Given the description of an element on the screen output the (x, y) to click on. 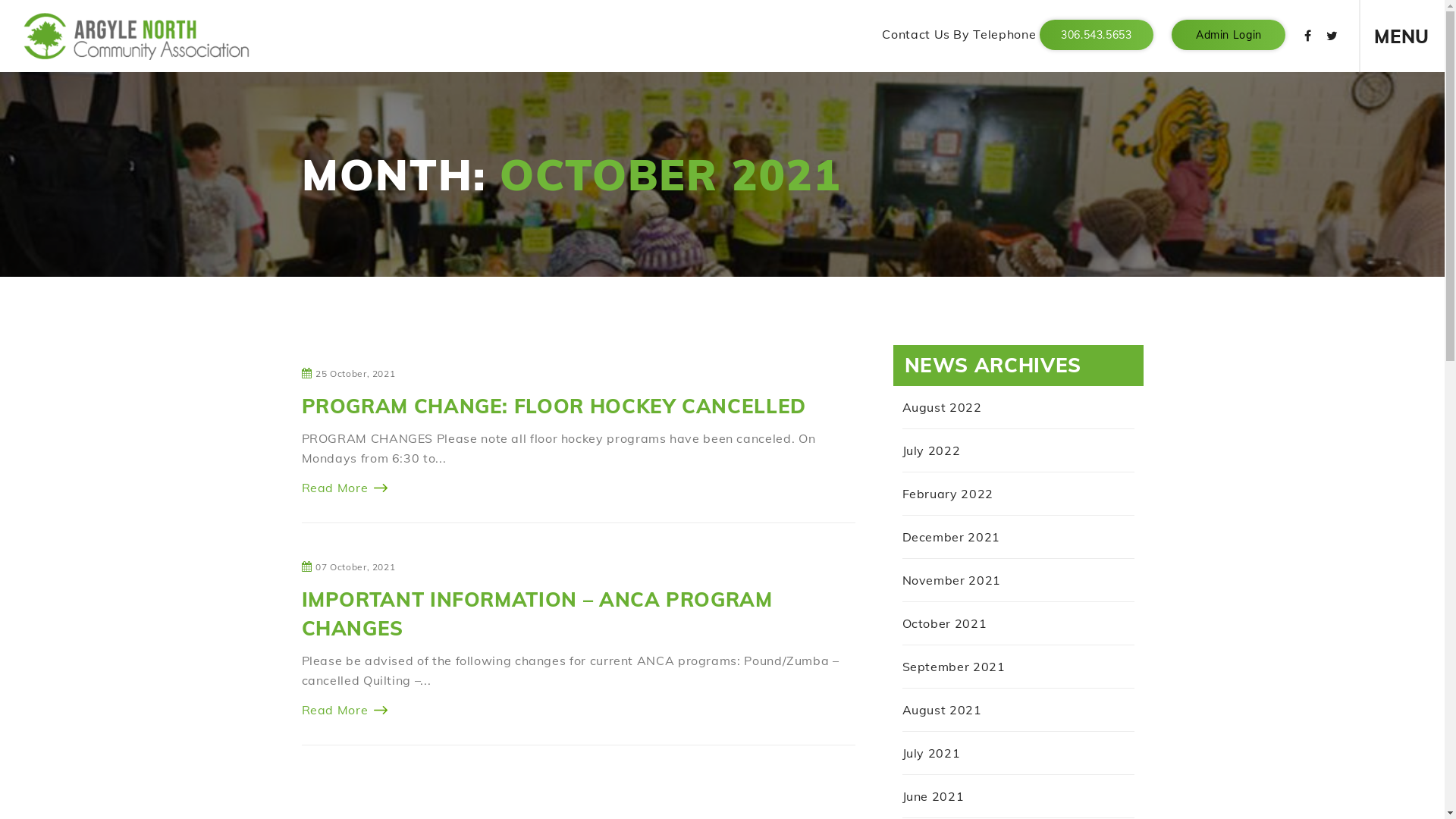
306.543.5653 Element type: text (1096, 34)
February 2022 Element type: text (947, 493)
August 2022 Element type: text (942, 407)
November 2021 Element type: text (951, 580)
December 2021 Element type: text (951, 536)
October 2021 Element type: text (944, 623)
September 2021 Element type: text (953, 666)
July 2022 Element type: text (931, 450)
MENU Element type: text (1401, 36)
July 2021 Element type: text (931, 752)
Read More Element type: text (344, 709)
Admin Login Element type: text (1228, 34)
August 2021 Element type: text (942, 709)
June 2021 Element type: text (933, 796)
PROGRAM CHANGE: FLOOR HOCKEY CANCELLED Element type: text (553, 405)
ANCA Element type: hover (136, 35)
Read More Element type: text (344, 487)
